Given the description of an element on the screen output the (x, y) to click on. 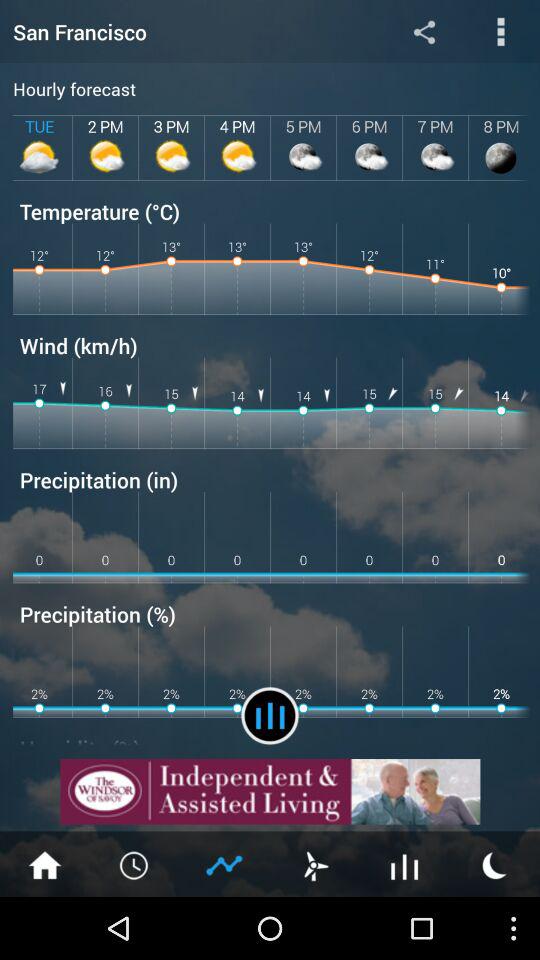
go to the weather option (315, 864)
